Given the description of an element on the screen output the (x, y) to click on. 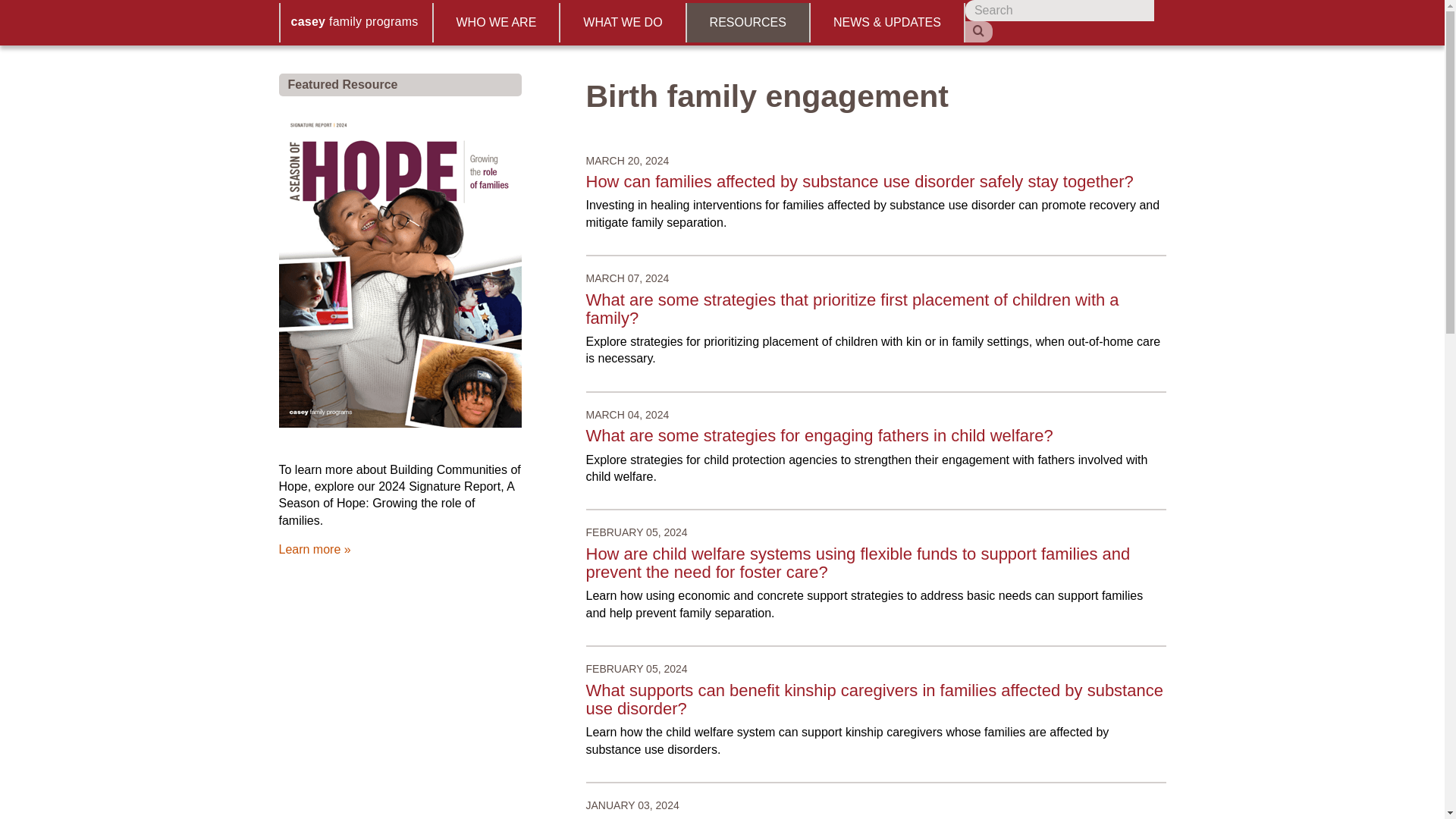
WHAT WE DO (622, 22)
Who We Are (496, 22)
RESOURCES (748, 22)
Resources (748, 22)
casey family programs (356, 22)
WHO WE ARE (496, 22)
Learn more (314, 549)
